Given the description of an element on the screen output the (x, y) to click on. 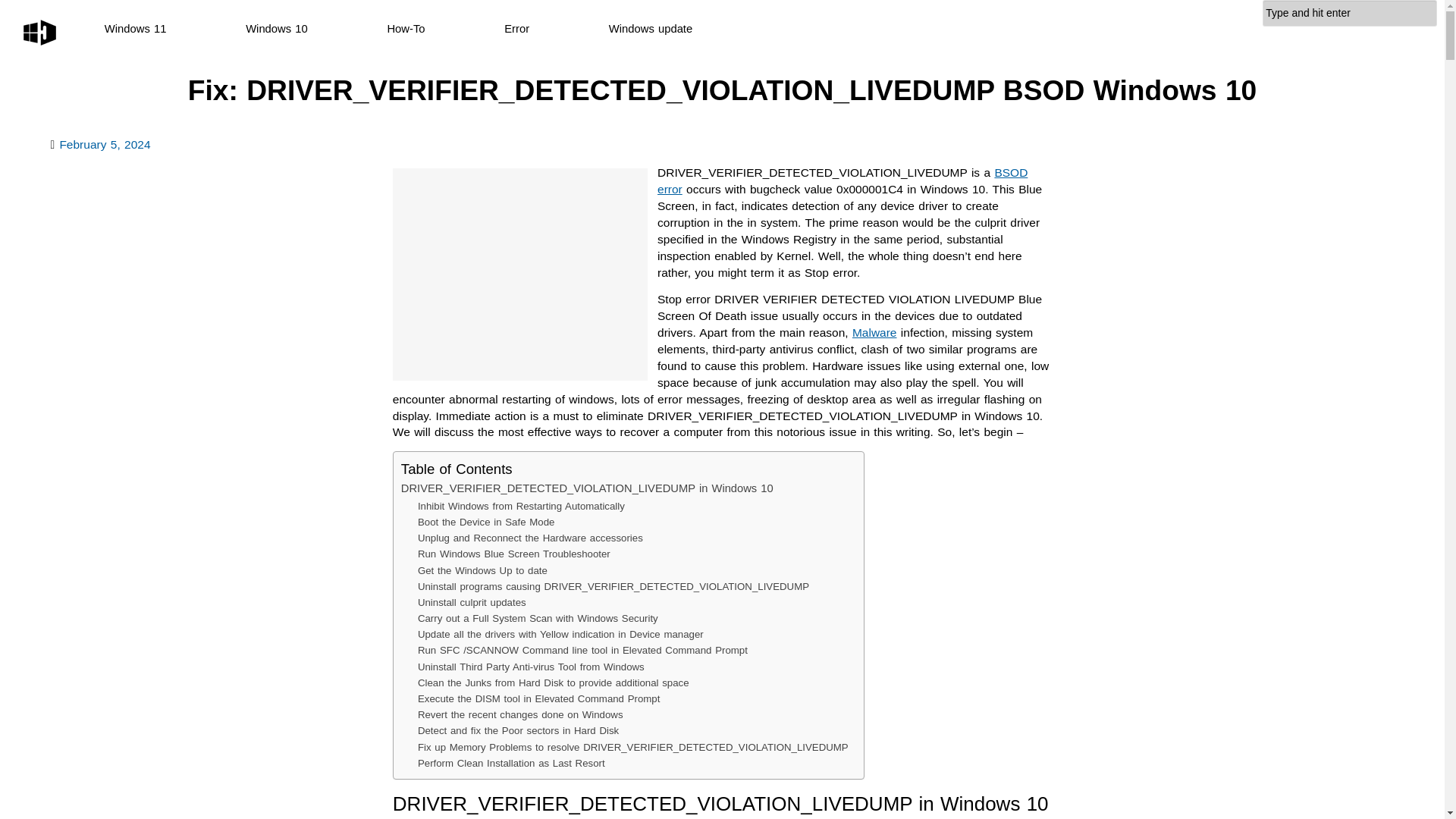
How-To (406, 28)
Unplug and Reconnect the Hardware accessories (530, 537)
Uninstall culprit updates (471, 602)
Boot the Device in Safe Mode (485, 521)
February 5, 2024 (104, 144)
Get the Windows Up to date (482, 570)
Detect and fix the Poor sectors in Hard Disk (517, 730)
Uninstall culprit updates (471, 602)
Execute the DISM tool in Elevated Command Prompt (539, 698)
BSOD error (842, 180)
